Given the description of an element on the screen output the (x, y) to click on. 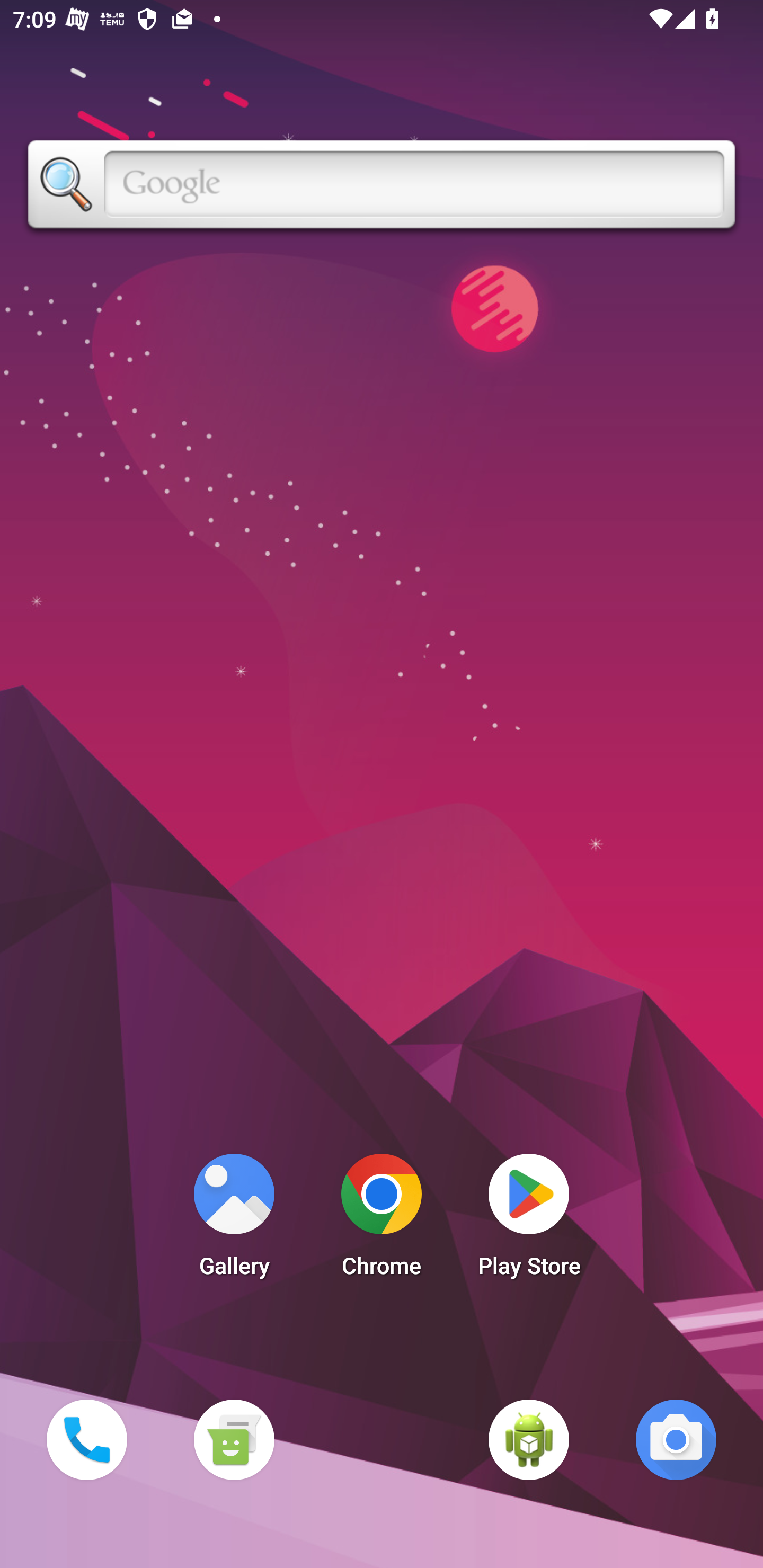
Gallery (233, 1220)
Chrome (381, 1220)
Play Store (528, 1220)
Phone (86, 1439)
Messaging (233, 1439)
WebView Browser Tester (528, 1439)
Camera (676, 1439)
